Given the description of an element on the screen output the (x, y) to click on. 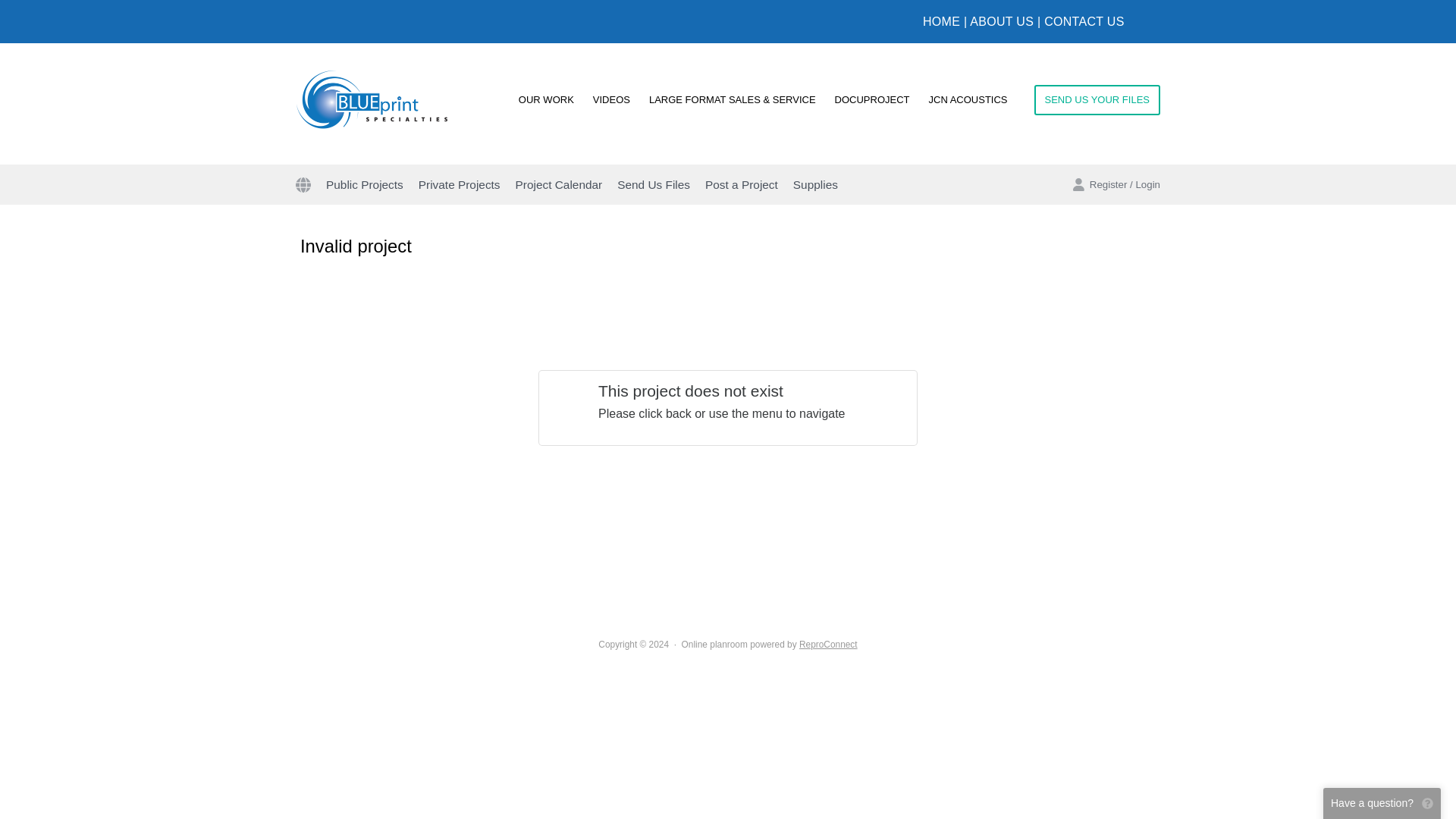
HOME (941, 21)
CONTACT US (1083, 21)
Post a Project (741, 184)
DOCUPROJECT (872, 99)
SEND US YOUR FILES (1096, 100)
Public Projects (364, 184)
Online planroom powered by ReproConnect (769, 644)
JCN ACOUSTICS (967, 99)
Private Projects (458, 184)
Supplies (815, 184)
